Given the description of an element on the screen output the (x, y) to click on. 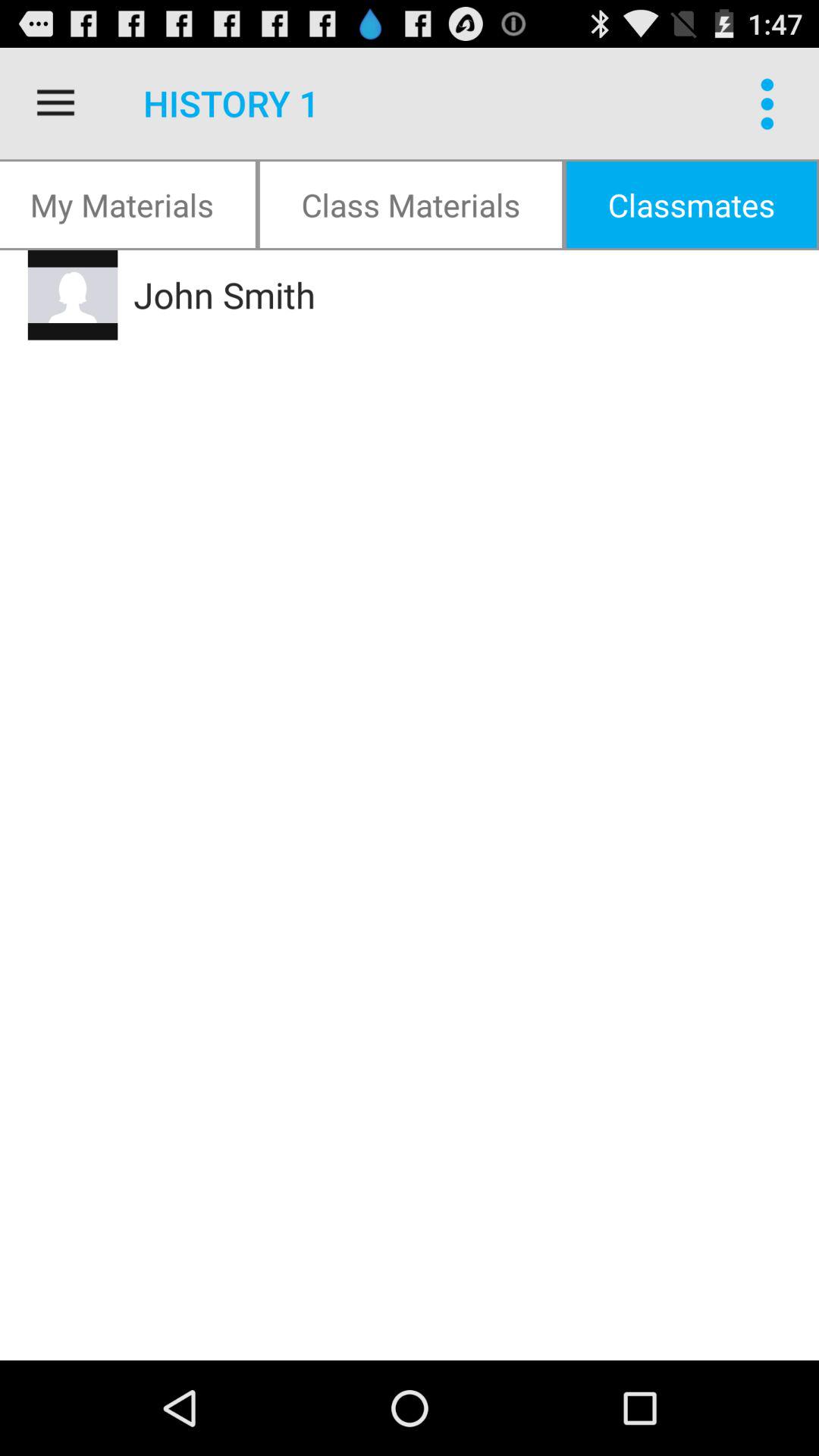
launch icon to the left of class materials (128, 204)
